Given the description of an element on the screen output the (x, y) to click on. 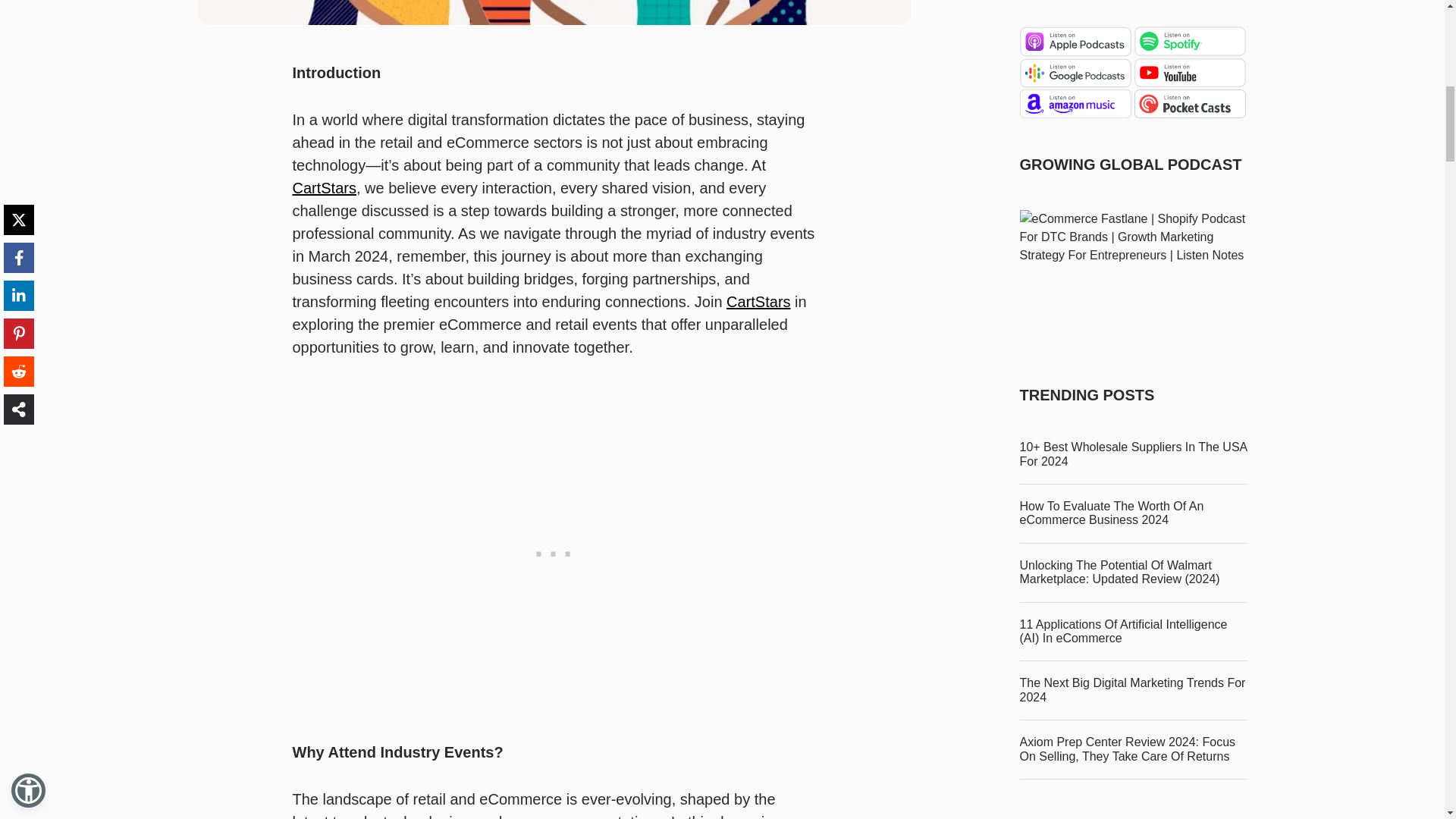
CartStars (758, 301)
